Given the description of an element on the screen output the (x, y) to click on. 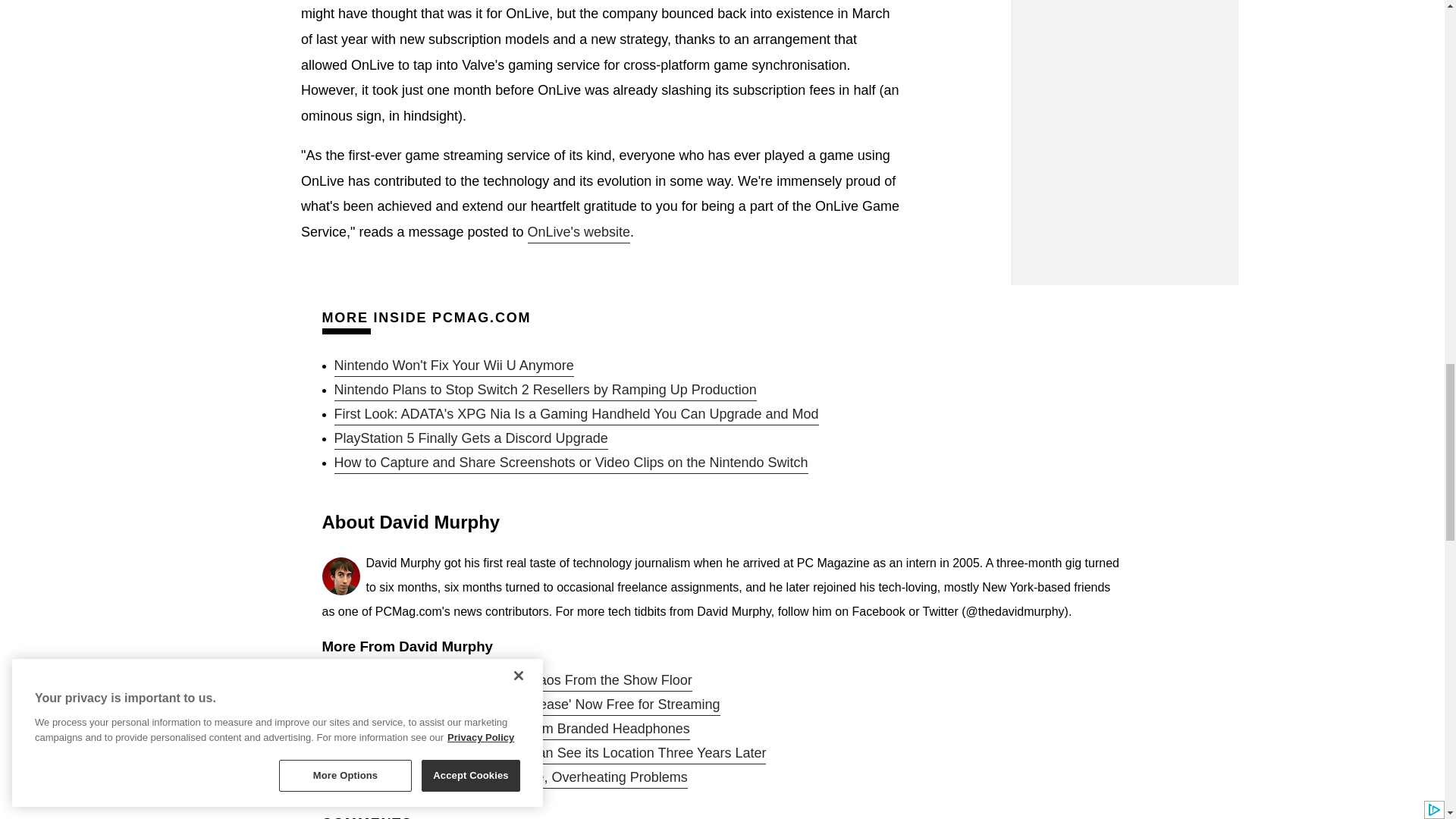
3rd party ad content (1123, 20)
